Given the description of an element on the screen output the (x, y) to click on. 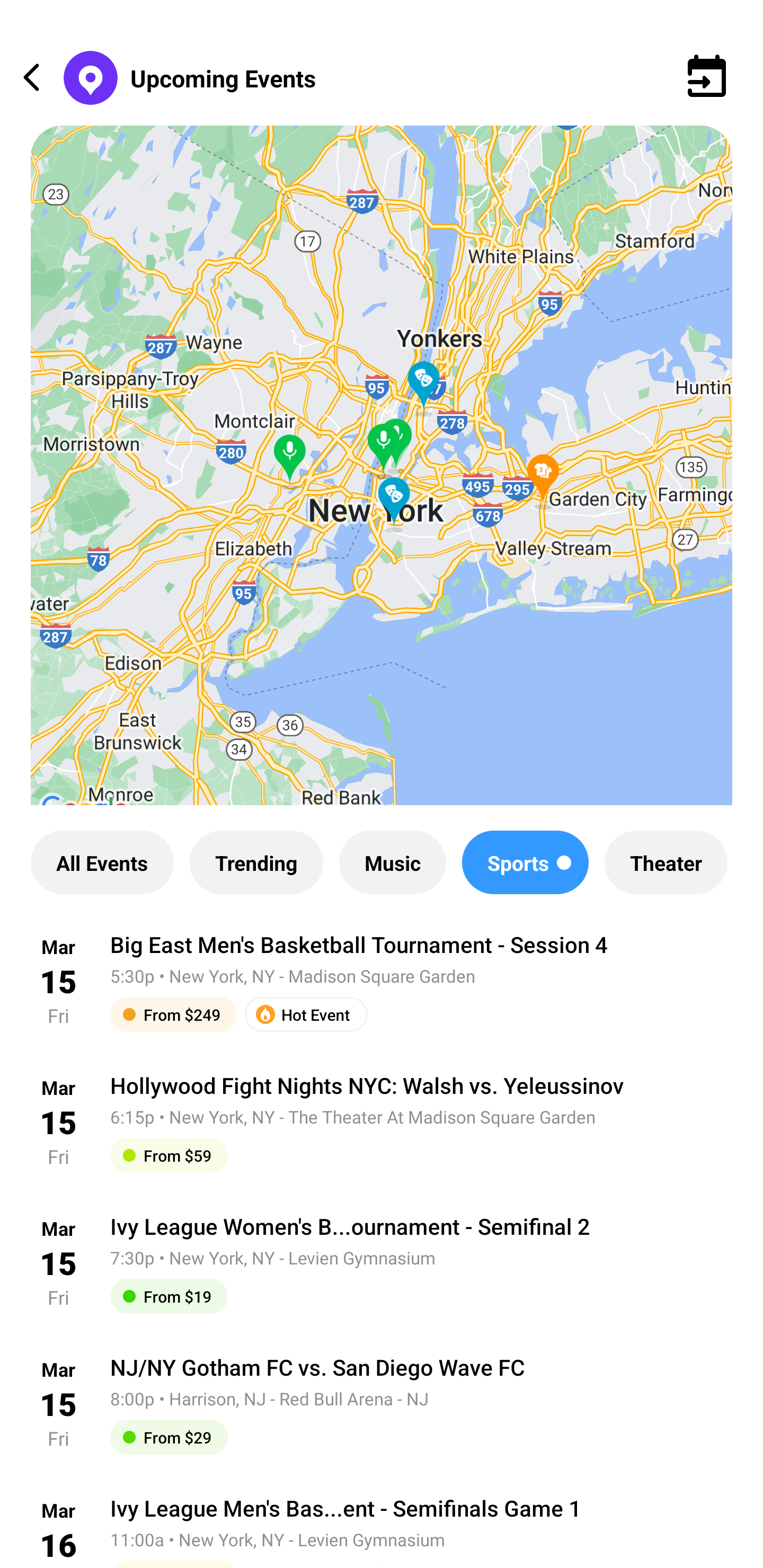
All Events (101, 862)
Trending (256, 862)
Music (392, 862)
Sports (525, 862)
Theater (665, 862)
